Given the description of an element on the screen output the (x, y) to click on. 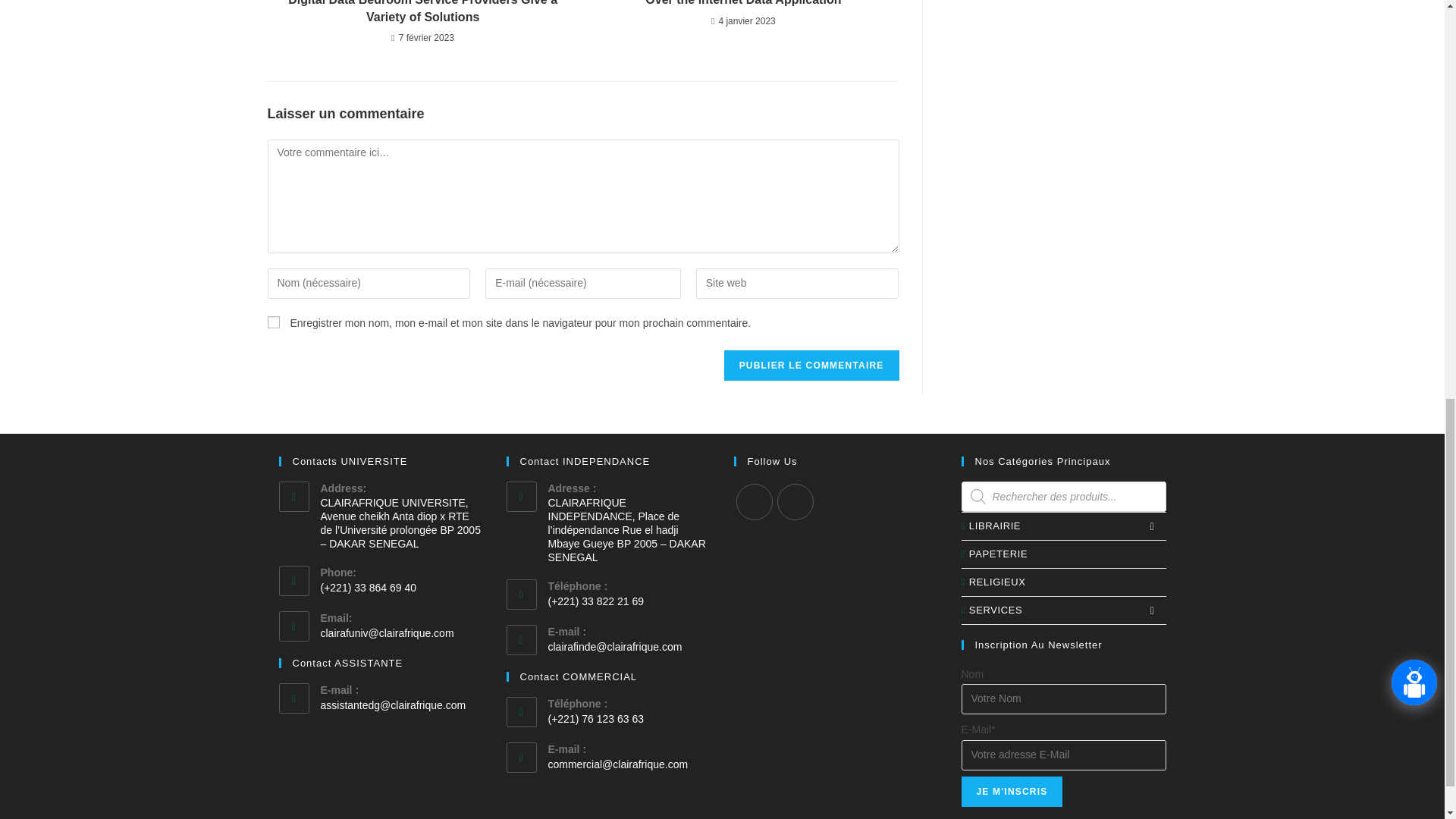
Over the internet Data Application (742, 4)
Publier le commentaire (811, 365)
Je m'inscris (1011, 791)
yes (272, 322)
